Given the description of an element on the screen output the (x, y) to click on. 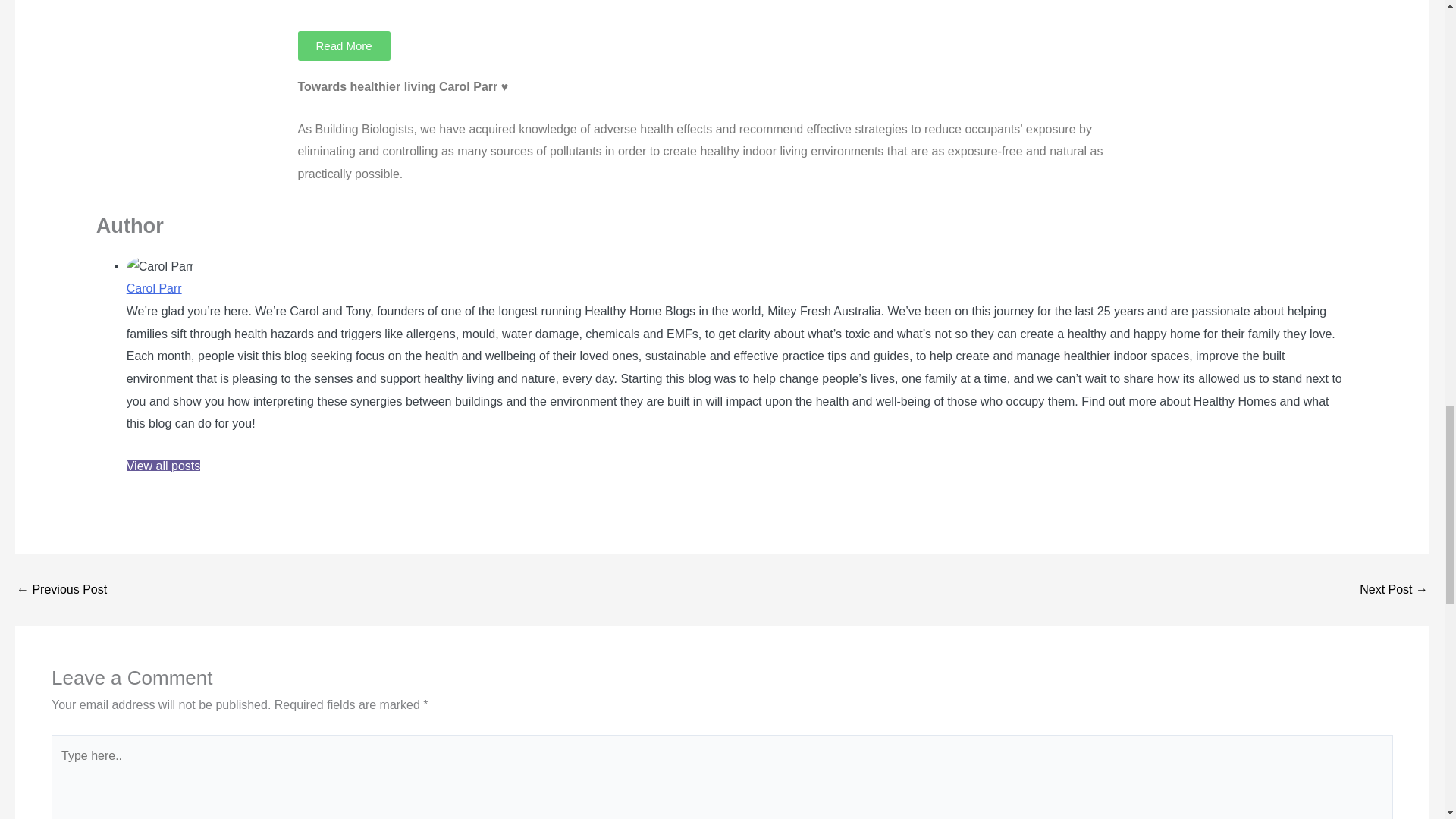
View all posts (163, 465)
Carol Parr (154, 287)
7 Ways to Allergy Proof the Bedroom (1393, 589)
10 Tips for Controlling Eczema Outbreaks (61, 589)
